Given the description of an element on the screen output the (x, y) to click on. 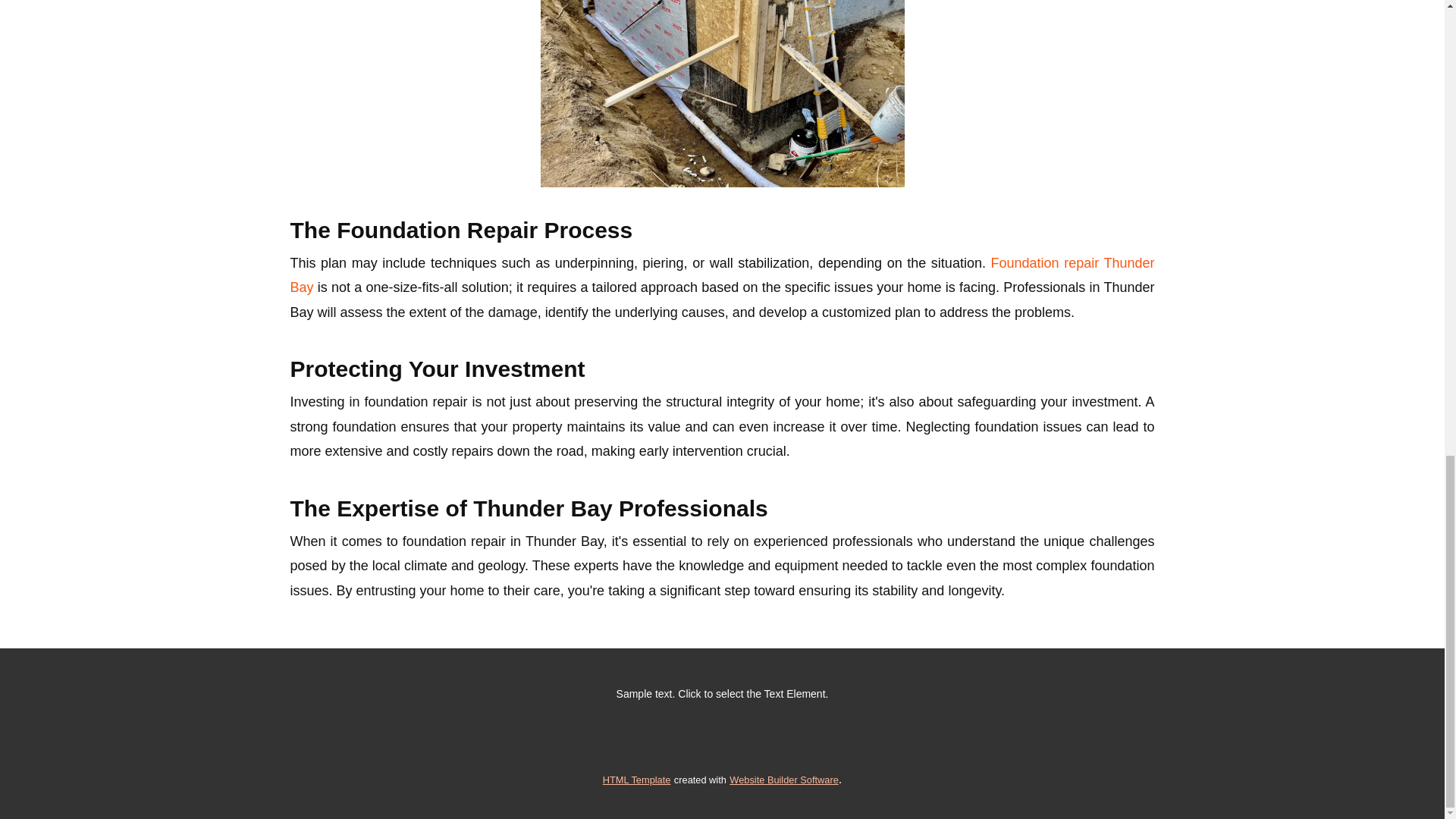
Website Builder Software (783, 779)
HTML Template (636, 779)
Foundation repair Thunder Bay (721, 274)
